Given the description of an element on the screen output the (x, y) to click on. 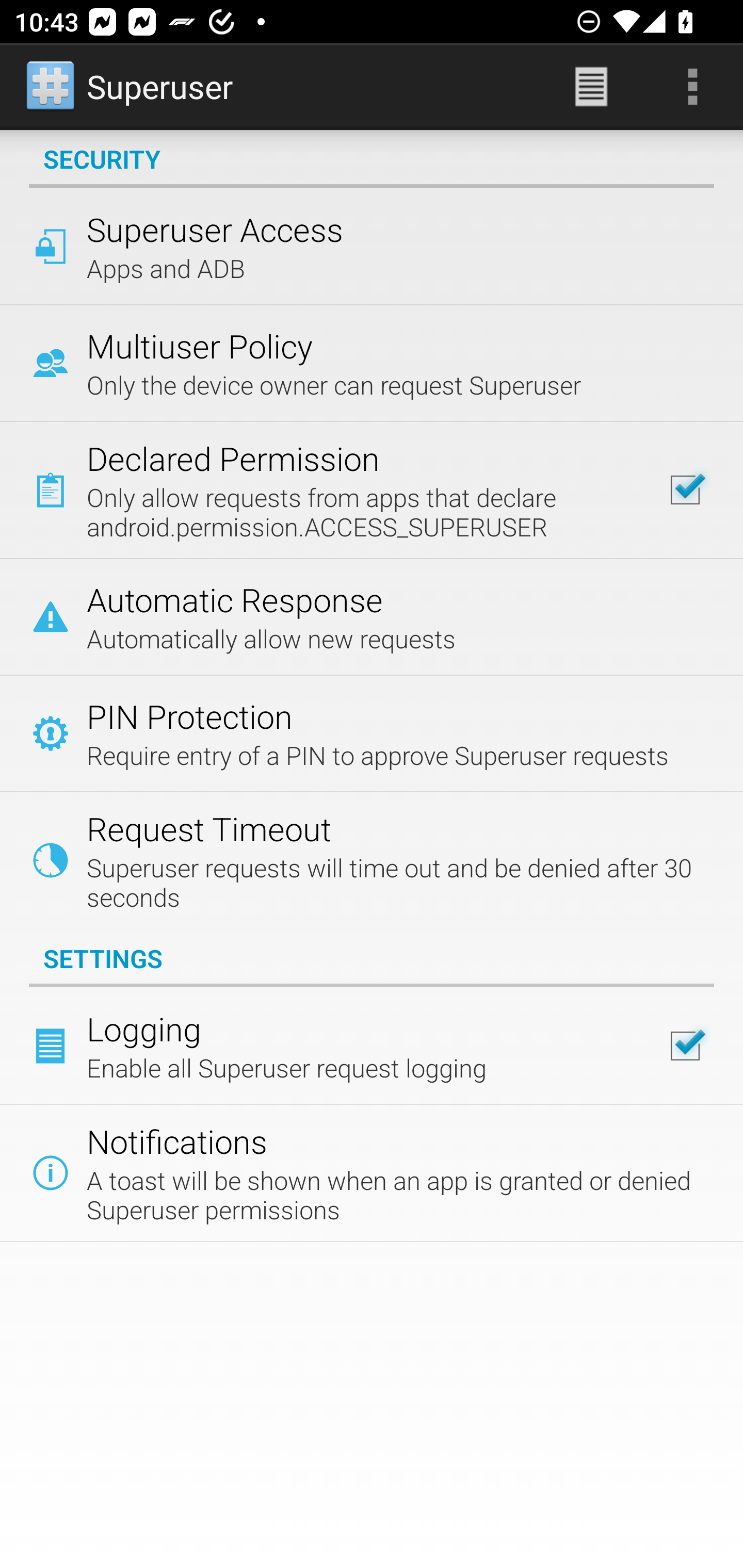
Superuser (130, 86)
Logs (590, 86)
More options (692, 86)
Superuser Access Apps and ADB (371, 246)
Logging Enable all Superuser request logging (371, 1045)
